Given the description of an element on the screen output the (x, y) to click on. 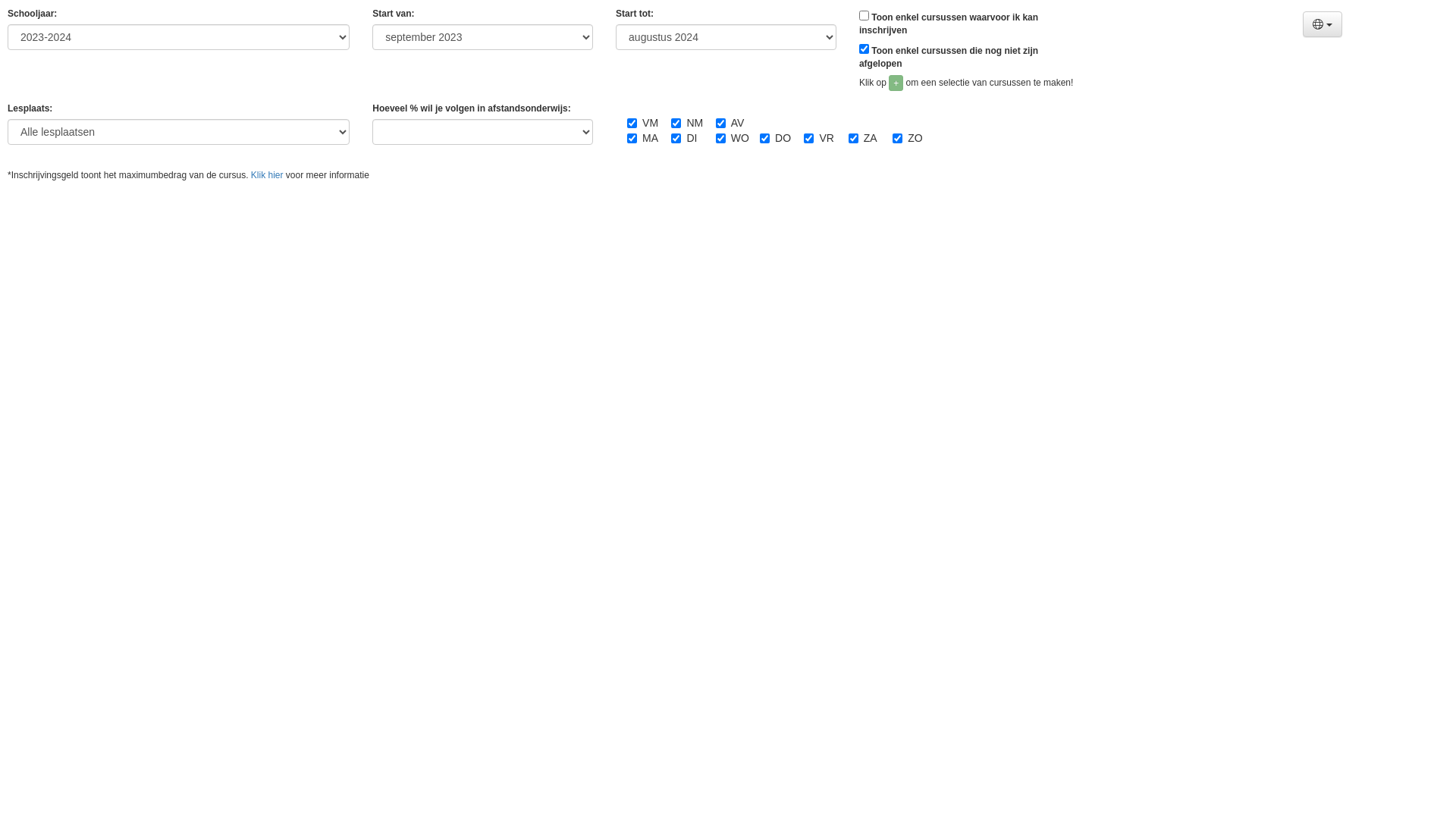
Klik hier Element type: text (267, 174)
+ Element type: text (895, 83)
